Given the description of an element on the screen output the (x, y) to click on. 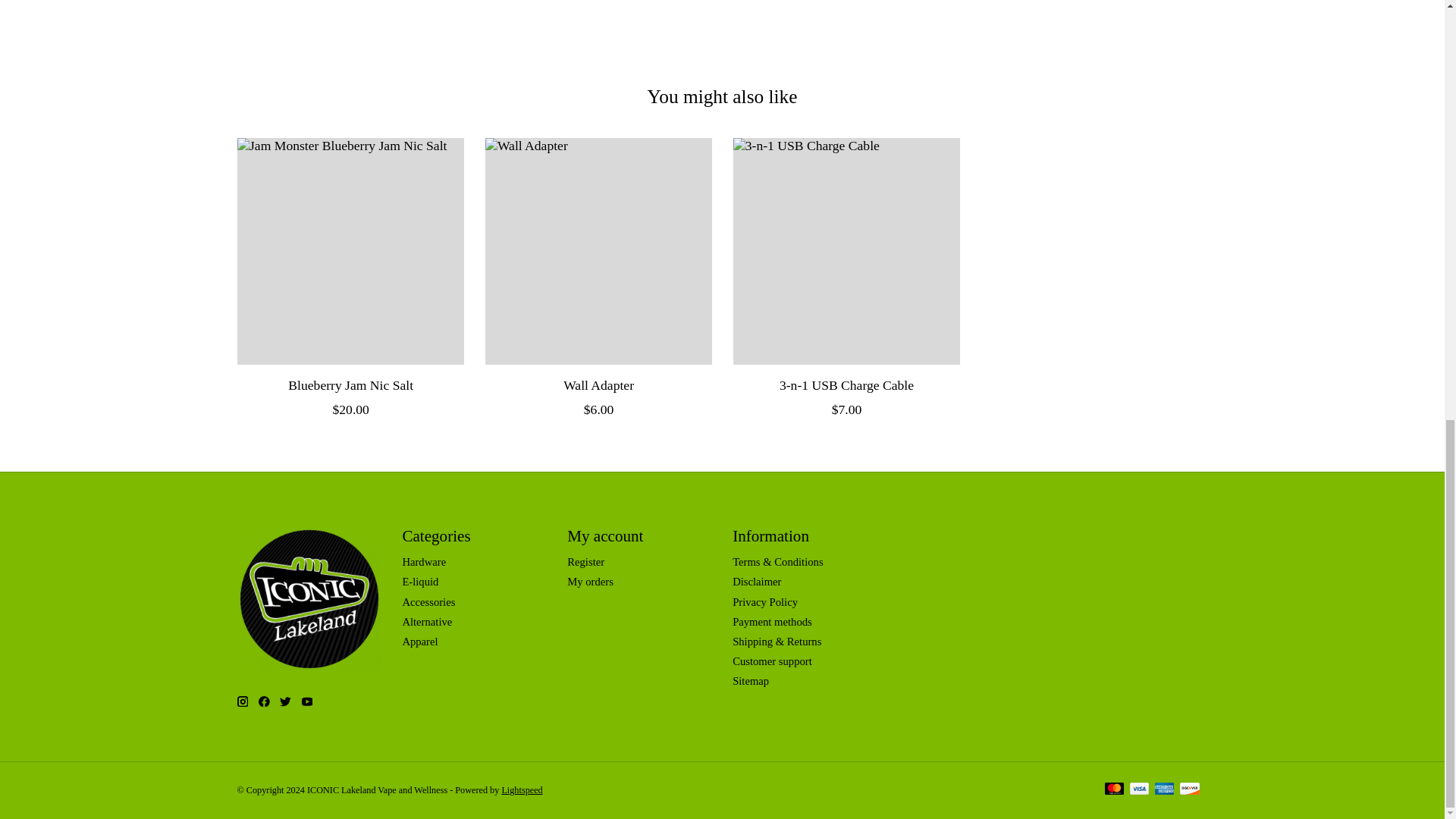
Disclaimer (756, 581)
3-n-1 USB Charge Cable (845, 251)
Payment methods (772, 621)
Jam Monster Blueberry Jam Nic Salt (349, 251)
Privacy Policy (764, 602)
My orders (589, 581)
Register (585, 562)
Wall Adapter (597, 251)
Customer support (772, 661)
